Given the description of an element on the screen output the (x, y) to click on. 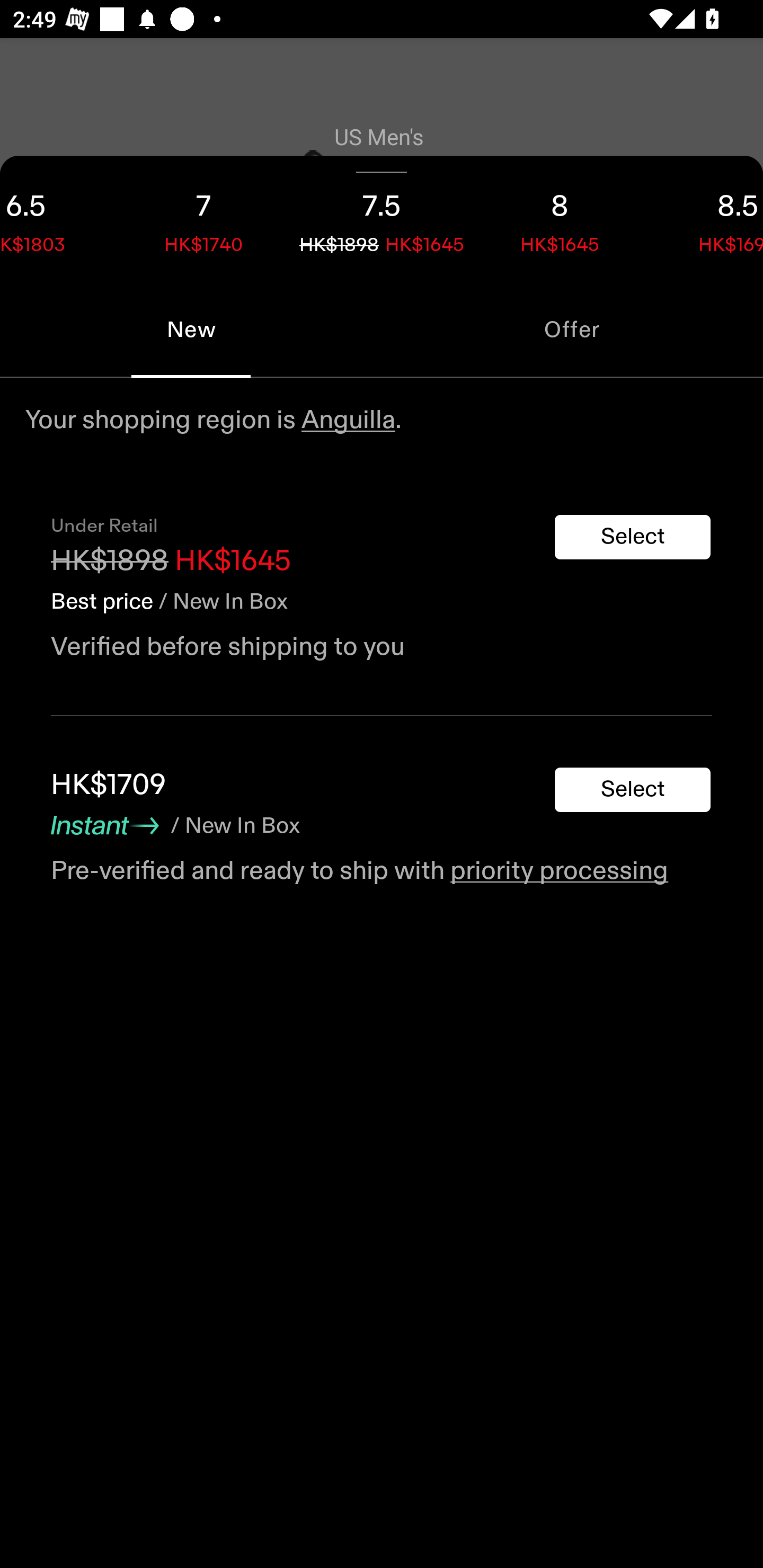
6.5 HK$1803 (57, 218)
7 HK$1740 (203, 218)
7.5 HK$1898 HK$1645 (381, 218)
8 HK$1645 (559, 218)
8.5 HK$1693 (705, 218)
Offer (572, 329)
Select (632, 536)
HK$1709 (108, 785)
Select (632, 789)
